Given the description of an element on the screen output the (x, y) to click on. 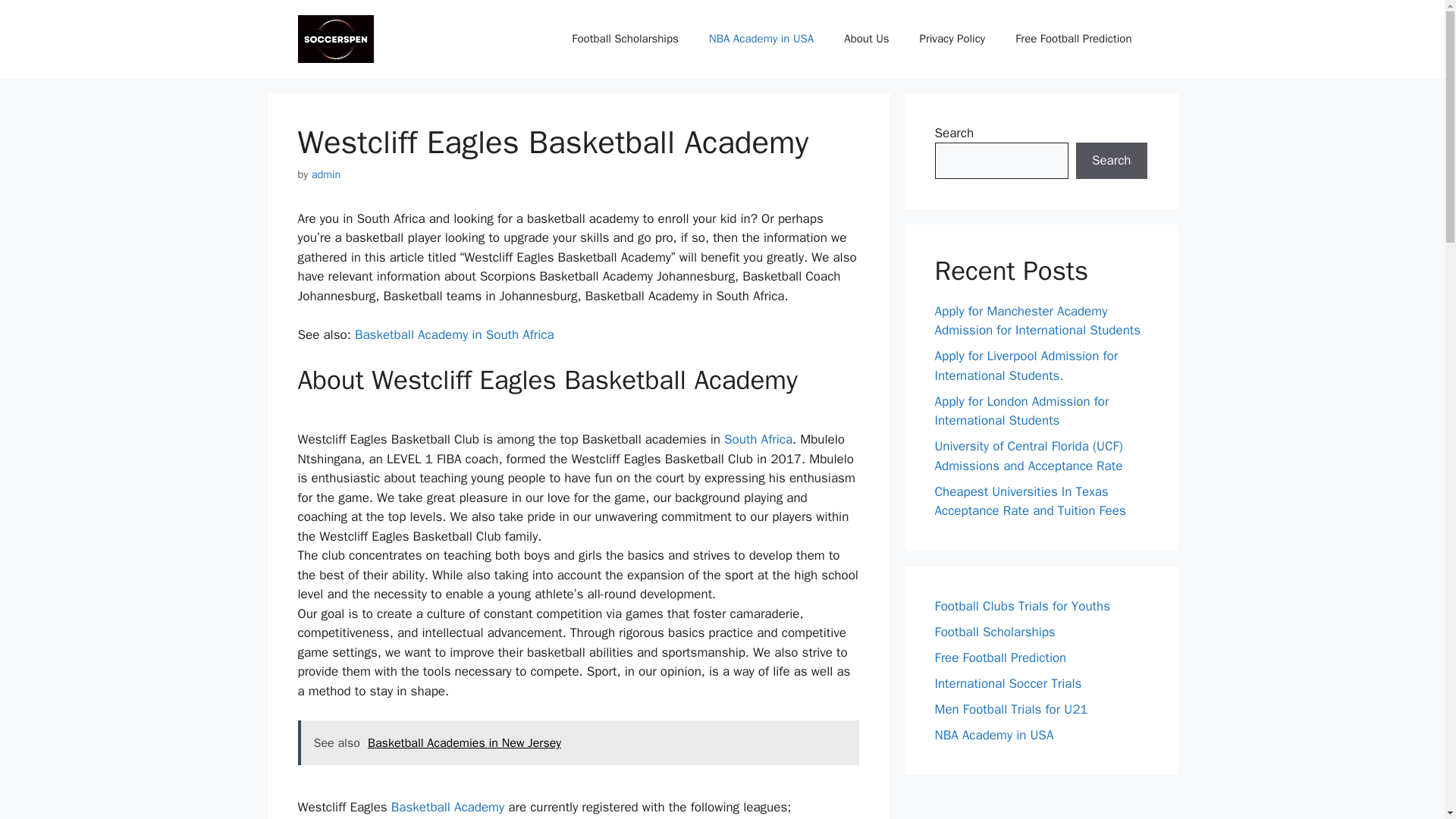
admin (325, 173)
Apply for Liverpool Admission for International Students. (1026, 366)
NBA Academy in USA (993, 734)
Basketball Academy (447, 806)
Privacy Policy (952, 38)
Football Scholarships (624, 38)
Free Football Prediction (999, 657)
International Soccer Trials (1007, 682)
Basketball Academy in South Africa (454, 334)
Apply for London Admission for International Students (1021, 410)
NBA Academy in USA (761, 38)
Free Football Prediction (1073, 38)
South Africa (757, 439)
